Given the description of an element on the screen output the (x, y) to click on. 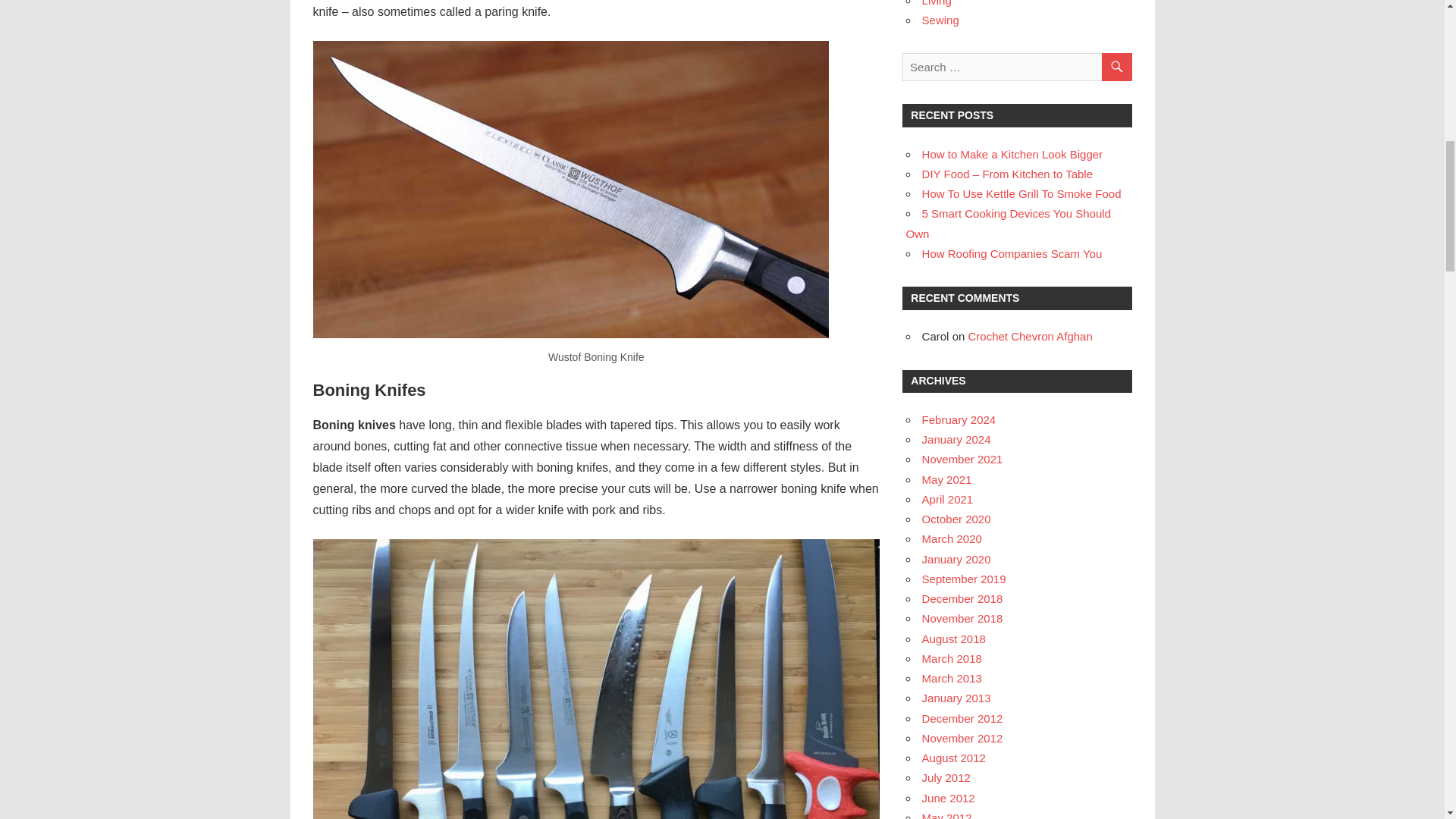
5 Smart Cooking Devices You Should Own (1007, 223)
How Roofing Companies Scam You (1011, 253)
Search for: (1016, 67)
How To Use Kettle Grill To Smoke Food (1021, 193)
How to Make a Kitchen Look Bigger (1011, 154)
Living (936, 3)
Sewing (940, 19)
February 2024 (958, 419)
Crochet Chevron Afghan (1030, 336)
November 2021 (962, 459)
January 2024 (956, 439)
May 2021 (946, 479)
